Given the description of an element on the screen output the (x, y) to click on. 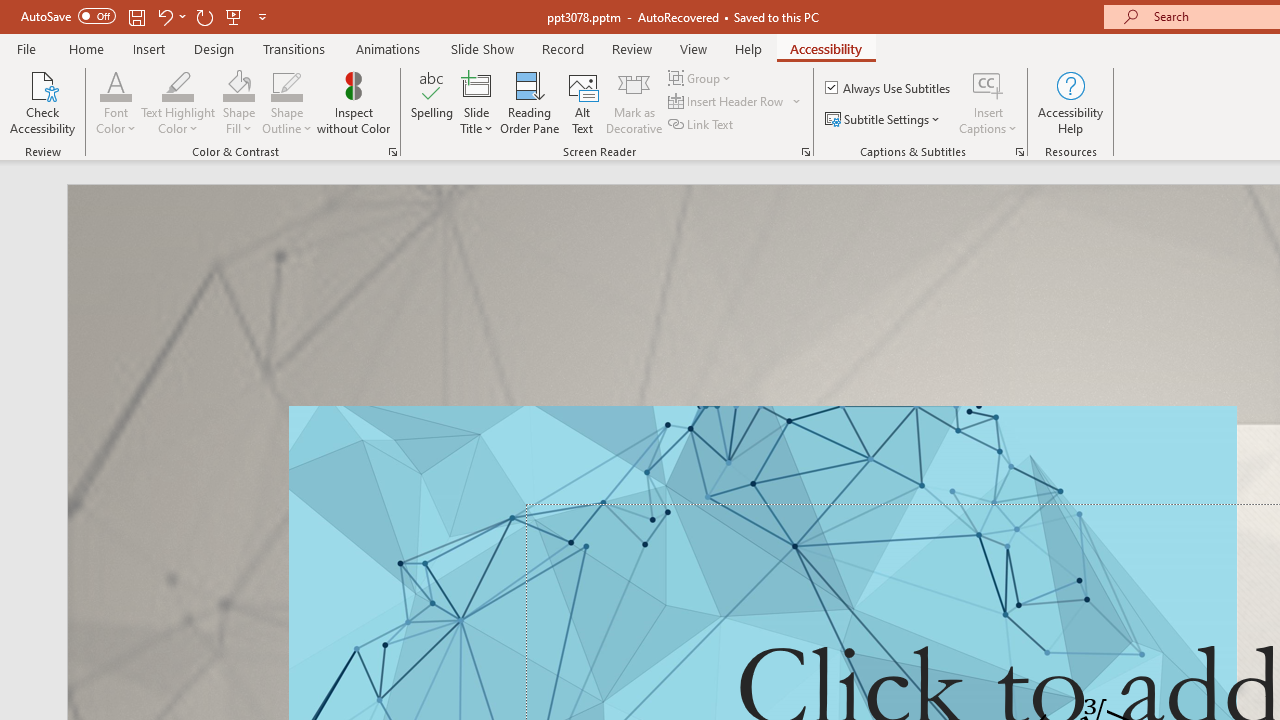
Link Text (702, 124)
Screen Reader (805, 151)
Reading Order Pane (529, 102)
